Given the description of an element on the screen output the (x, y) to click on. 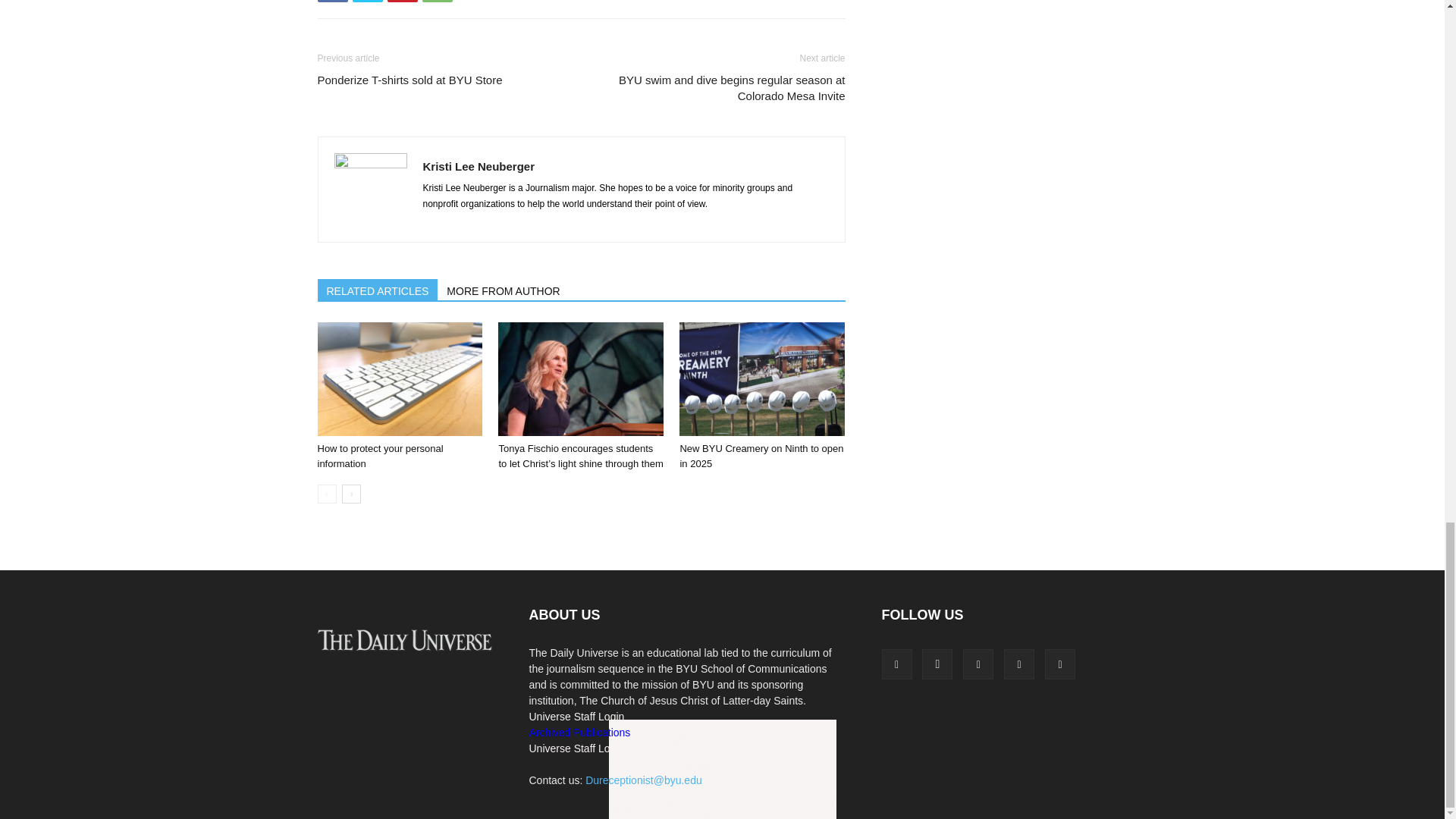
Twitter (366, 1)
Facebook (332, 1)
Pinterest (401, 1)
How to protect your personal information (399, 378)
WhatsApp (436, 1)
